Given the description of an element on the screen output the (x, y) to click on. 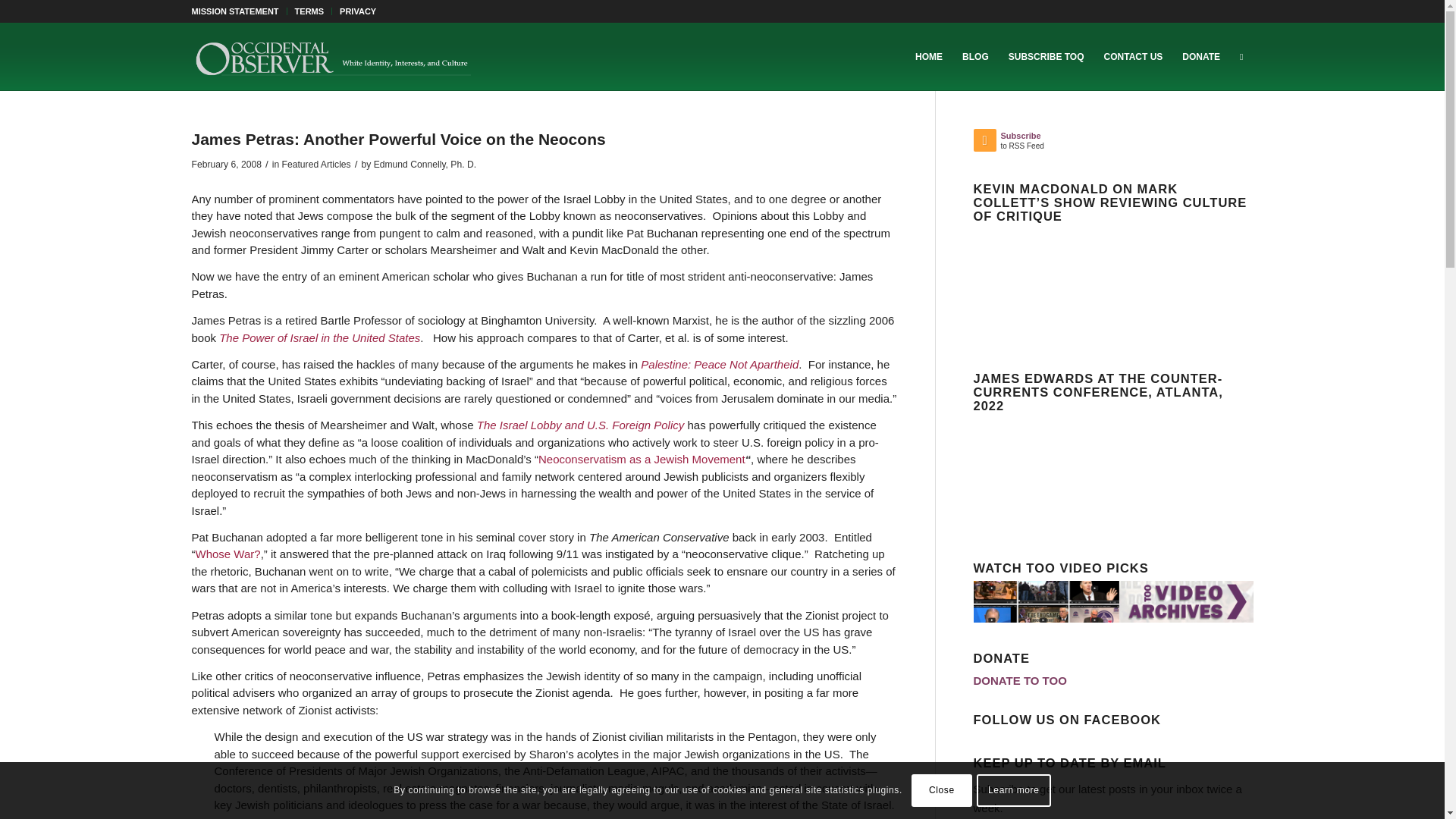
Whose War? (227, 553)
BLOG (975, 56)
Featured Articles (316, 163)
Contact Us (1133, 56)
HOME (928, 56)
SUBSCRIBE TOQ (1046, 56)
The Power of Israel in the United States (319, 337)
CONTACT US (1133, 56)
MISSION STATEMENT (234, 11)
The Israel Lobby and U.S. Foreign Policy (580, 424)
TERMS (1043, 143)
DONATE (309, 11)
Edmund Connelly, Ph. D. (1201, 56)
Neoconservatism as a Jewish Movement (425, 163)
